Given the description of an element on the screen output the (x, y) to click on. 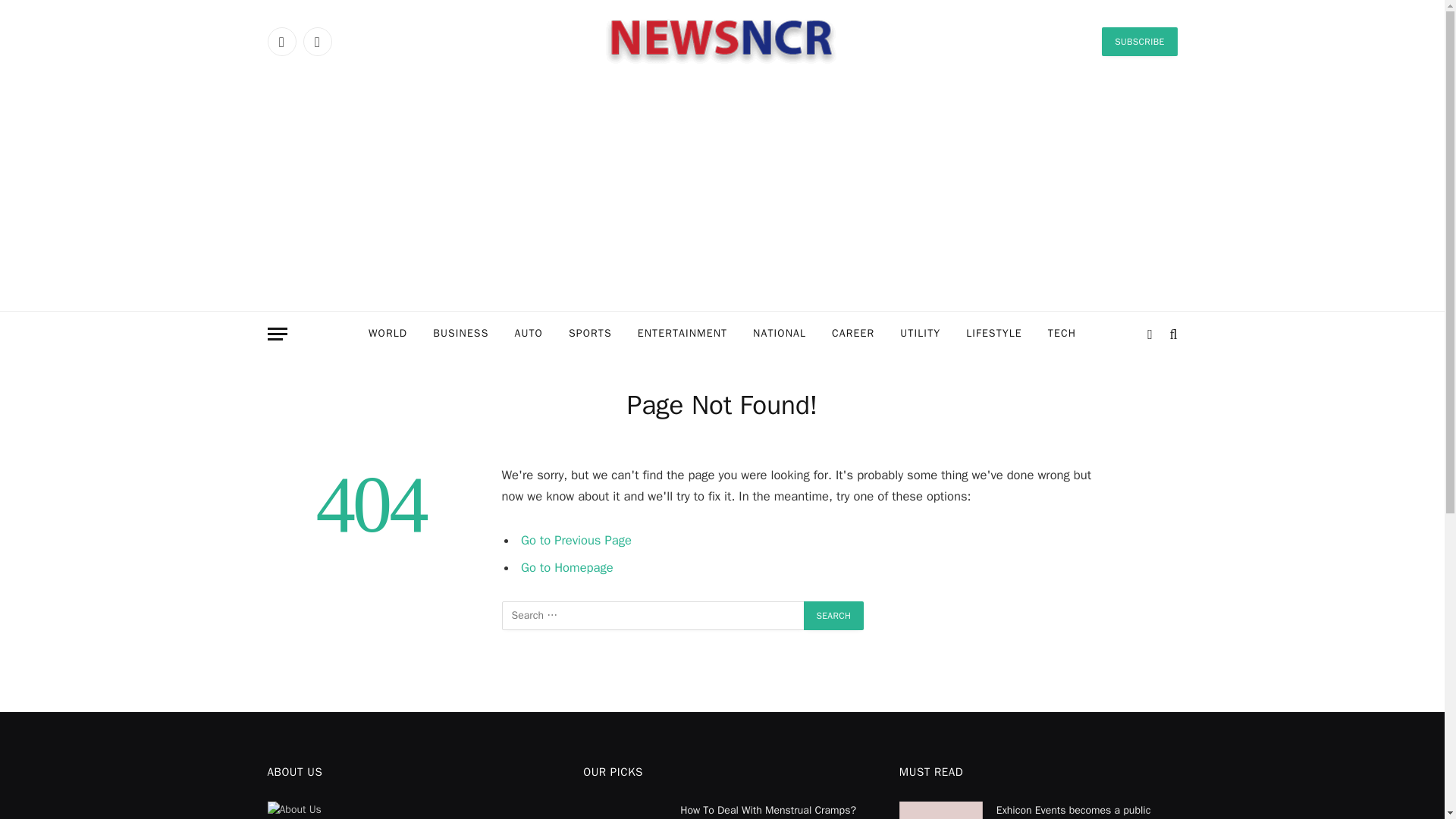
CAREER (852, 334)
Search (833, 615)
How To Deal With Menstrual Cramps? (624, 810)
TECH (1062, 334)
News NCR (722, 41)
BUSINESS (460, 334)
SPORTS (590, 334)
SUBSCRIBE (1139, 41)
AUTO (528, 334)
ENTERTAINMENT (681, 334)
LIFESTYLE (994, 334)
NATIONAL (778, 334)
Switch to Dark Design - easier on eyes. (1149, 334)
UTILITY (919, 334)
